Given the description of an element on the screen output the (x, y) to click on. 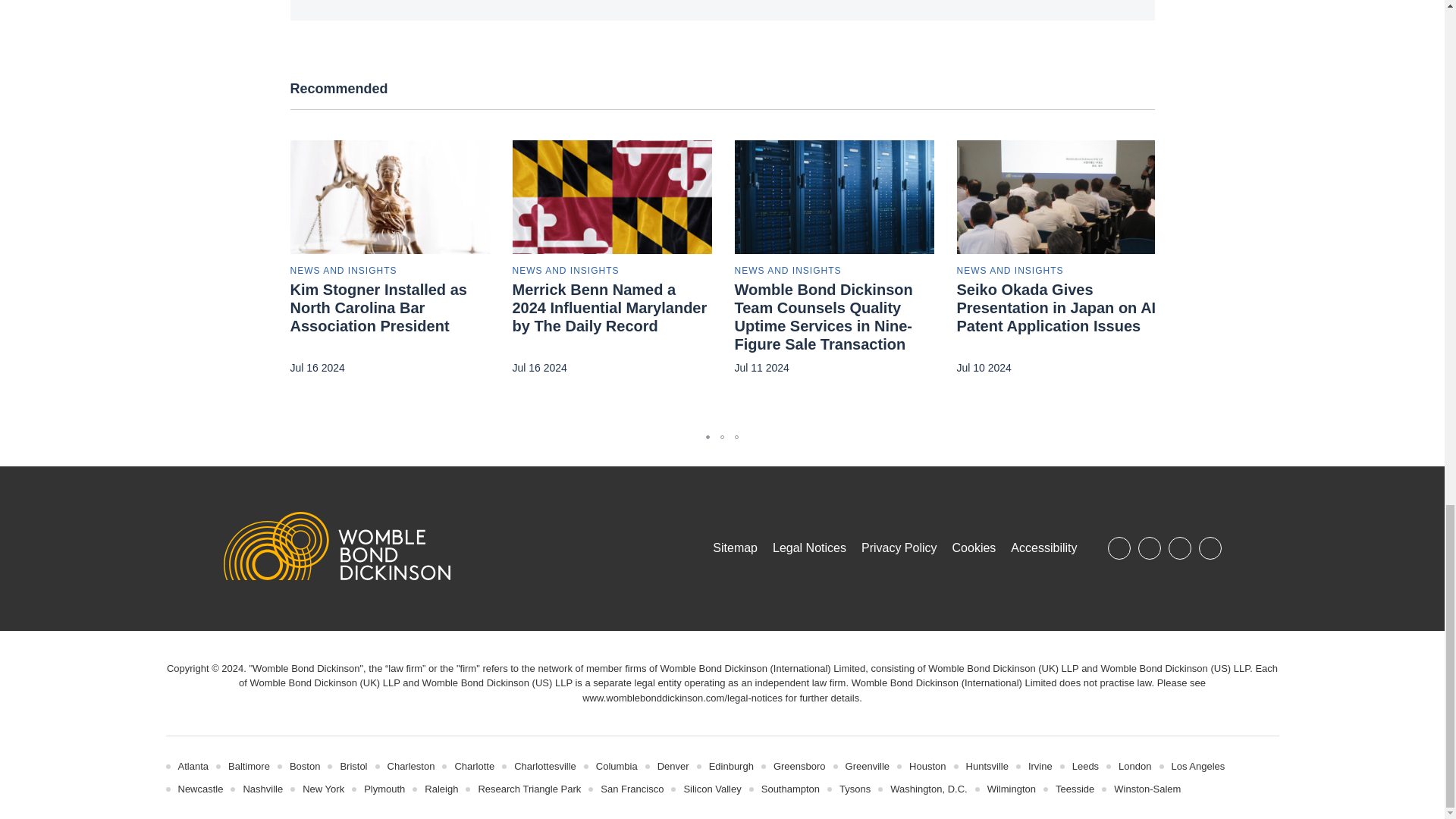
Edinburgh (731, 766)
Atlanta, GA, US (192, 766)
Greensboro, NC, US (799, 766)
Greenville, SC, US (867, 766)
Denver, CO, US (673, 766)
Columbia, SC, US (616, 766)
Legal Notices (682, 697)
Charleston, SC, US (411, 766)
Bristol (352, 766)
Charlottesville, VA, US (544, 766)
Baltimore, MD, US (248, 766)
Charlotte, NC, US (474, 766)
Boston, MA, US (304, 766)
